Given the description of an element on the screen output the (x, y) to click on. 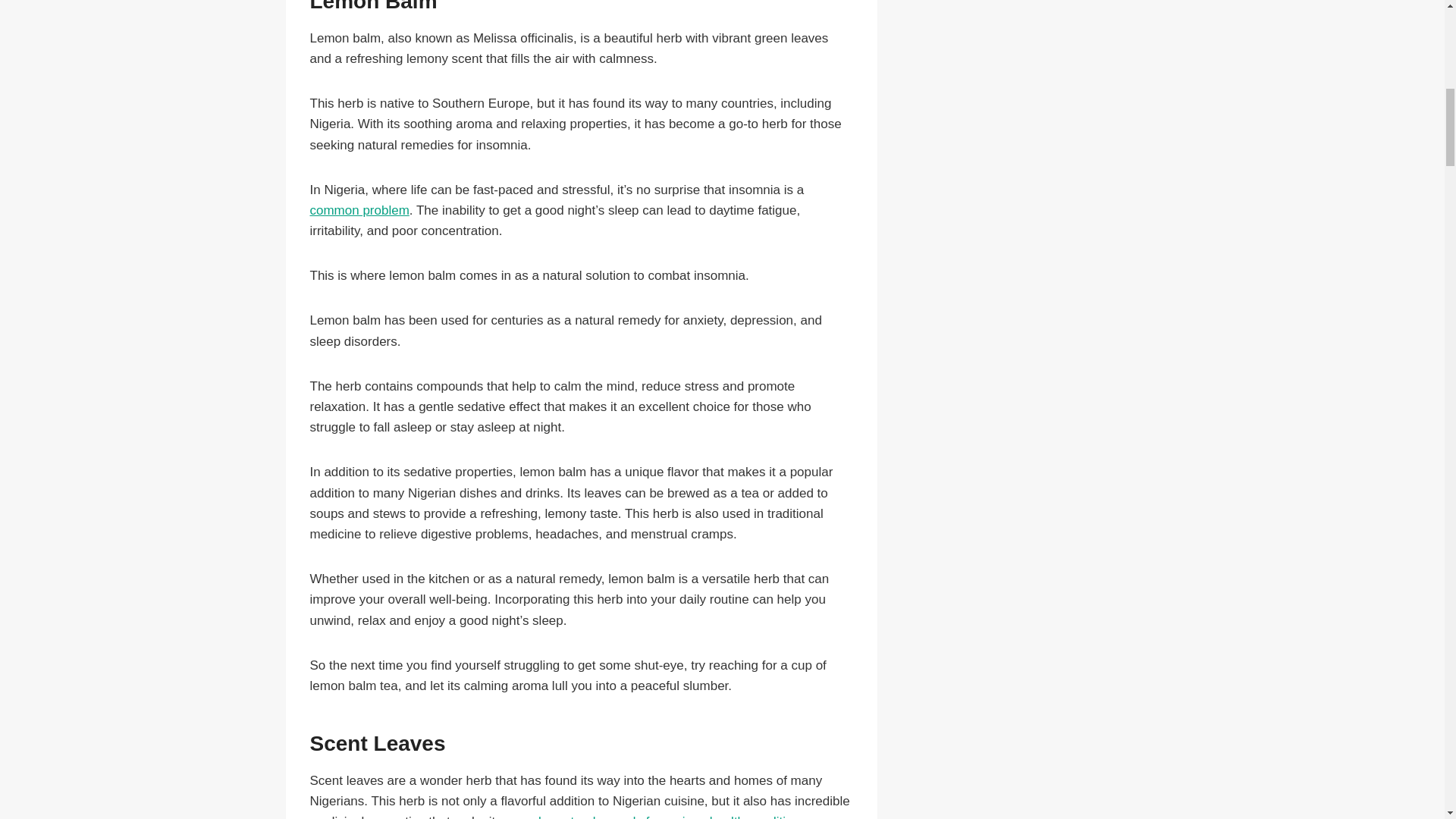
popular natural remedy for various health conditions (657, 816)
common problem (358, 210)
